Given the description of an element on the screen output the (x, y) to click on. 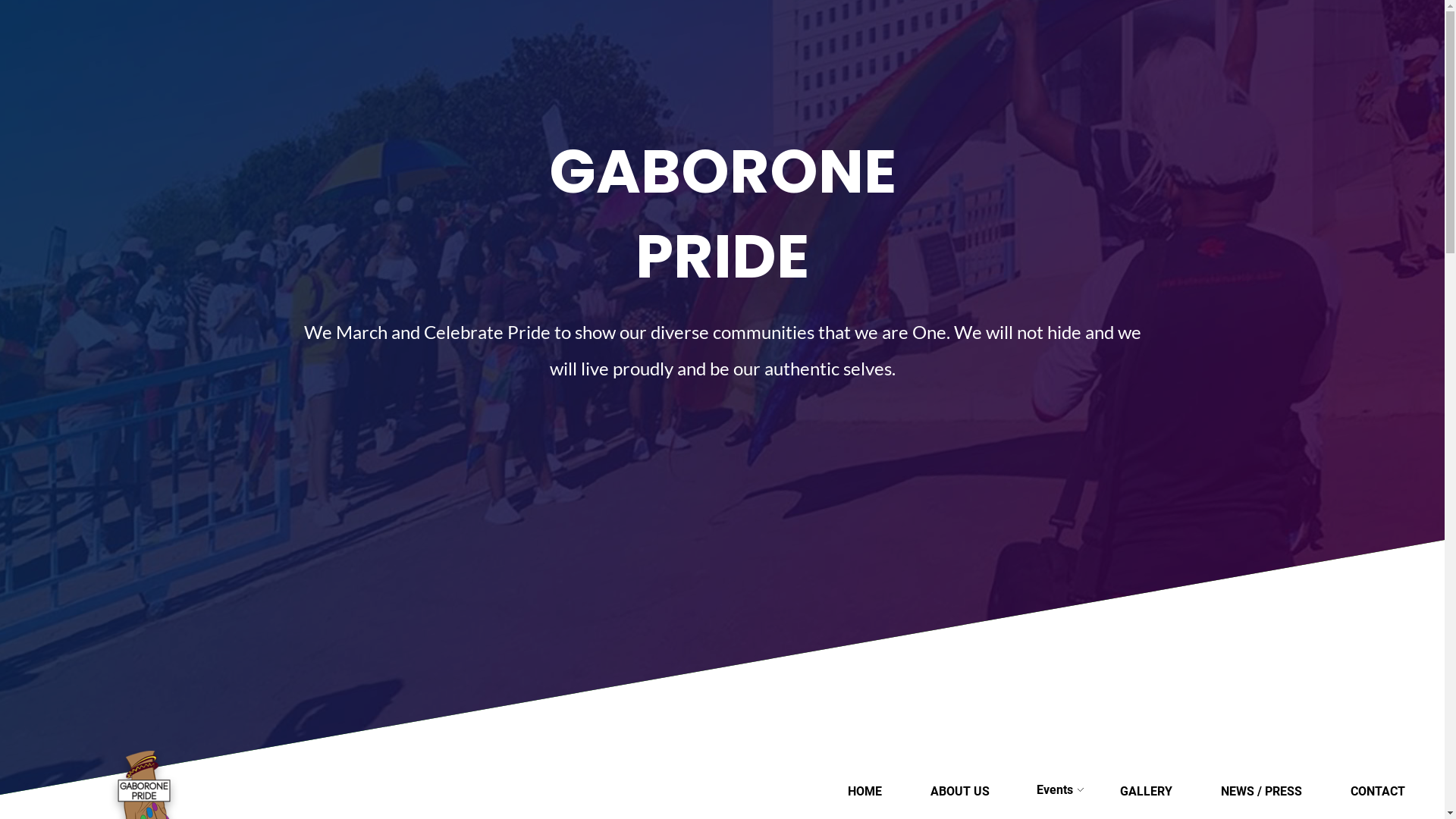
ABOUT US Element type: text (959, 791)
Events Element type: text (1054, 790)
NEWS / PRESS Element type: text (1261, 791)
HOME Element type: text (864, 791)
CONTACT Element type: text (1377, 791)
GALLERY Element type: text (1146, 791)
